Given the description of an element on the screen output the (x, y) to click on. 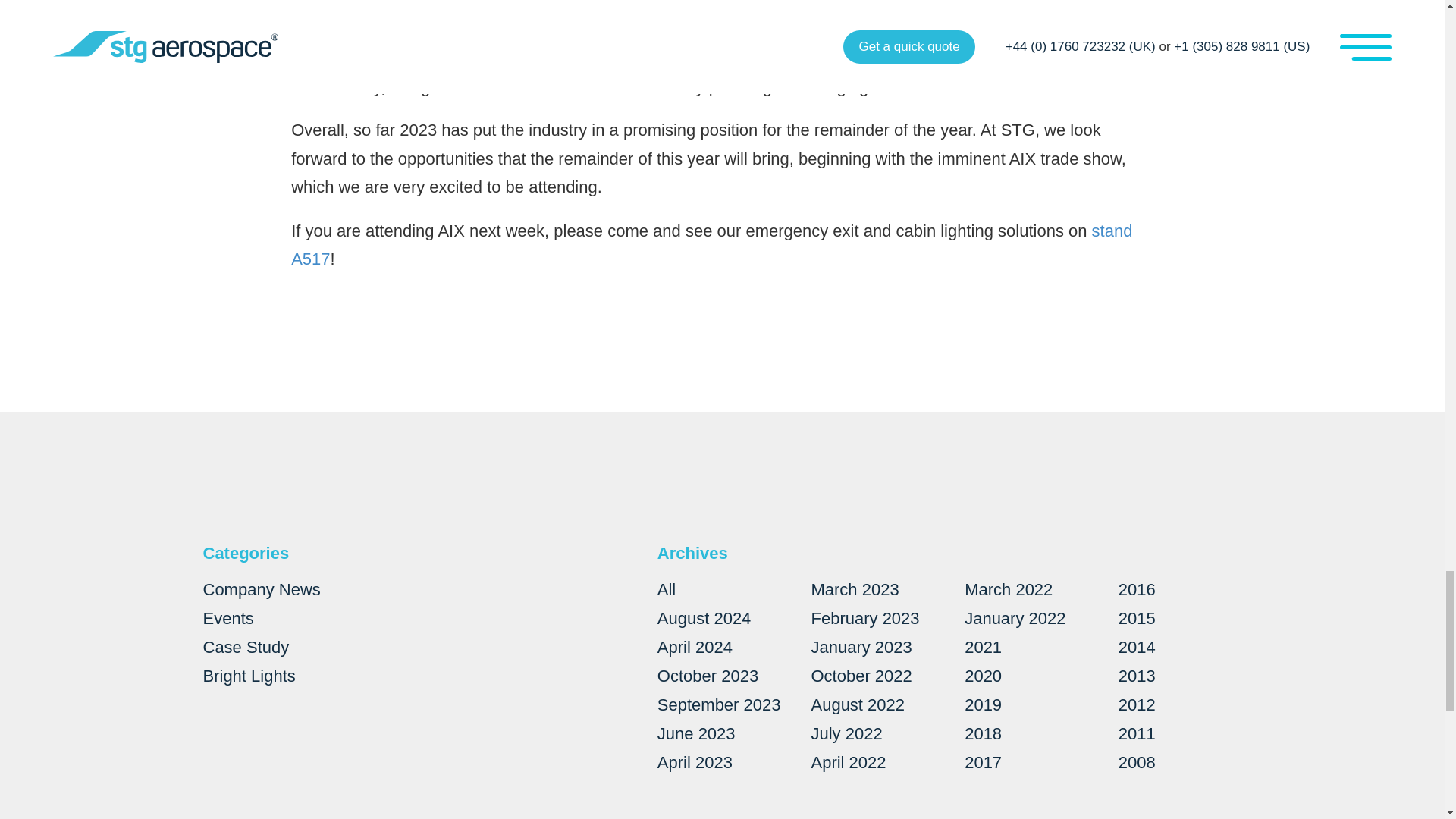
Company News (261, 588)
JetZero (571, 5)
stand A517 (711, 244)
